Given the description of an element on the screen output the (x, y) to click on. 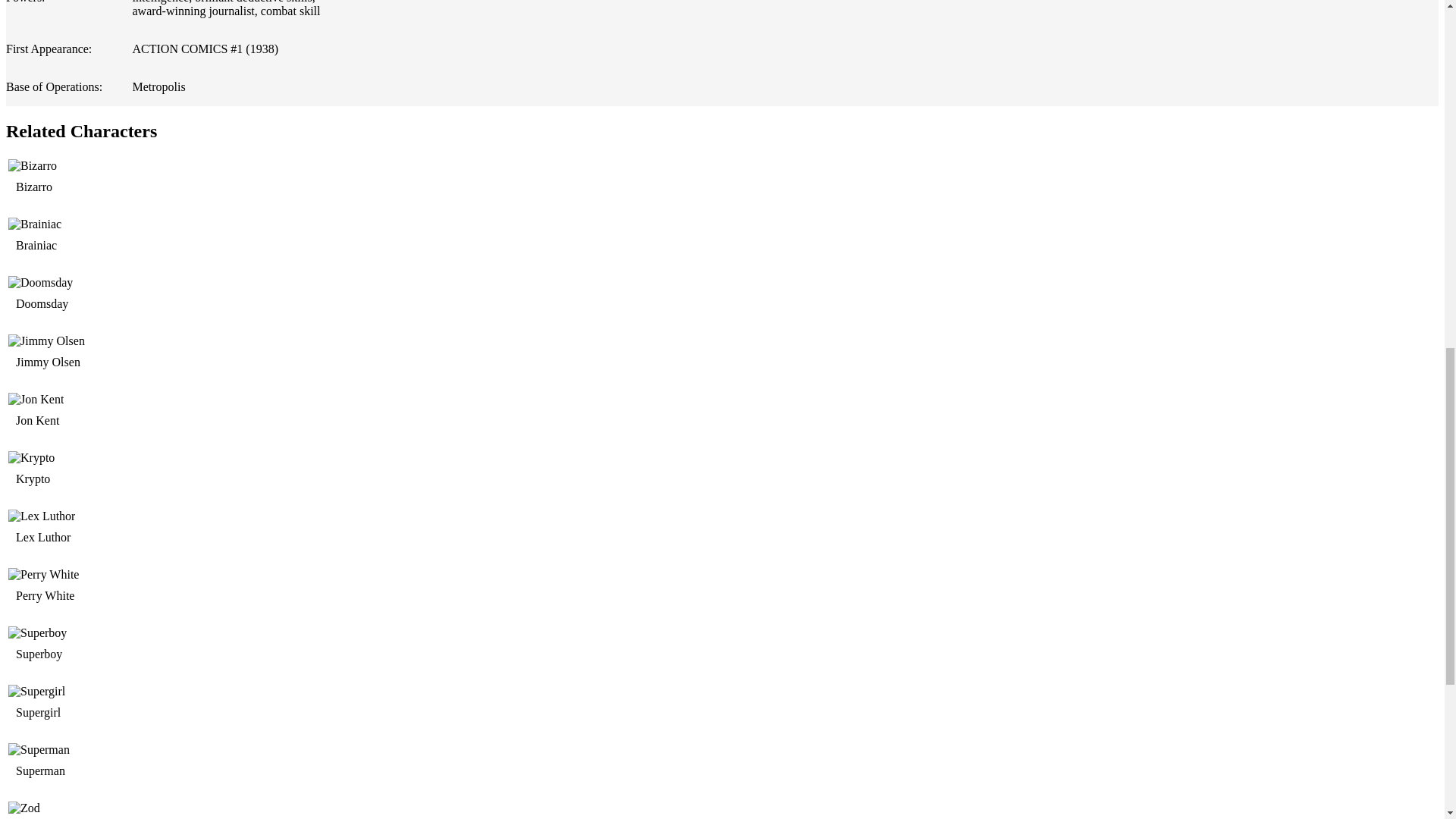
Jimmy Olsen (54, 362)
Jimmy Olsen (127, 355)
Krypto (127, 472)
Bizarro (127, 179)
Bizarro (40, 187)
Krypto (127, 458)
Brainiac (42, 245)
Krypto (39, 479)
Brainiac (127, 238)
Doomsday (127, 282)
Doomsday (127, 297)
Jon Kent (127, 413)
Doomsday (48, 304)
Jimmy Olsen (127, 341)
Jon Kent (43, 420)
